Given the description of an element on the screen output the (x, y) to click on. 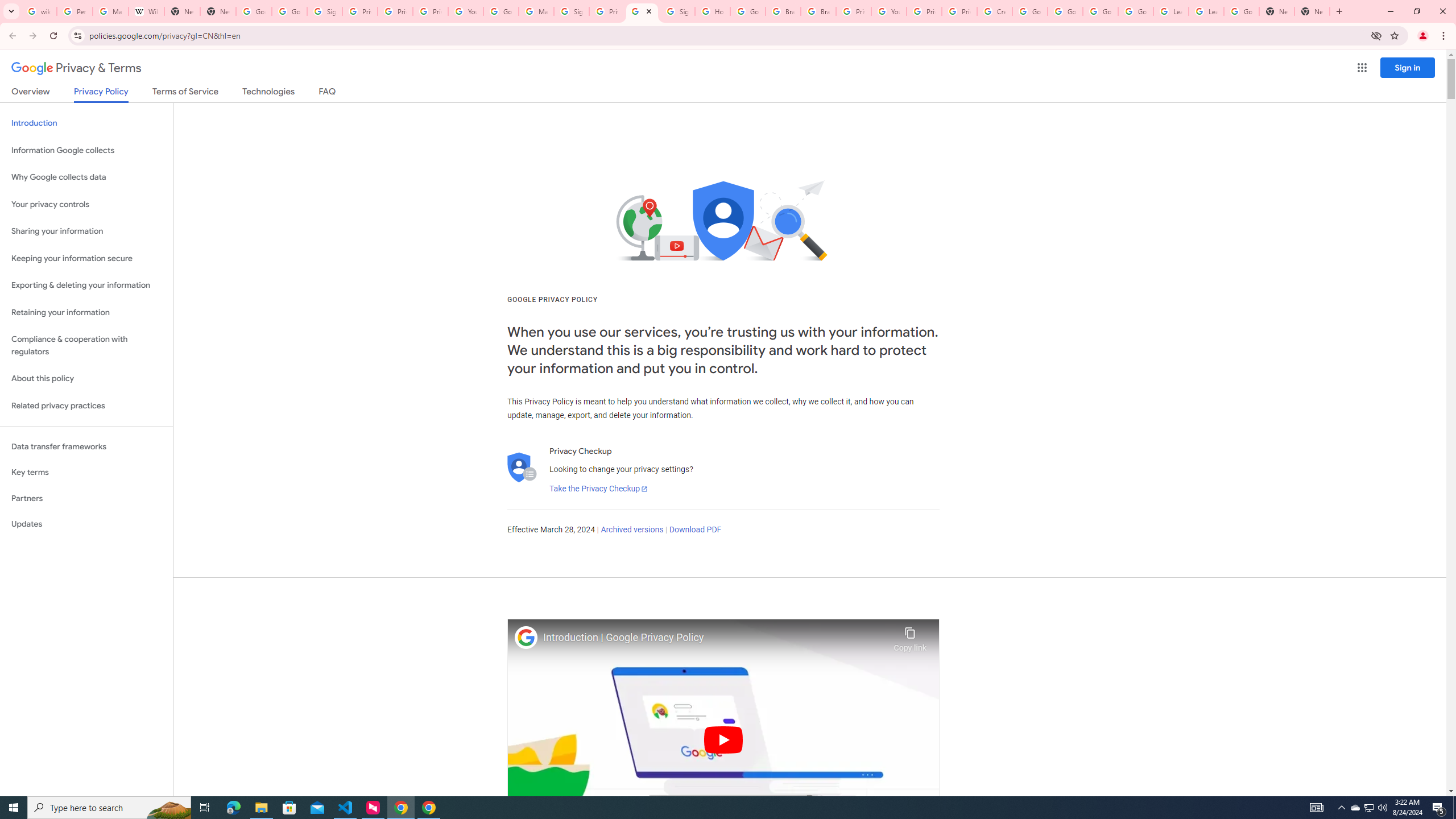
Photo image of Google (526, 636)
Introduction | Google Privacy Policy (715, 637)
Sign in - Google Accounts (324, 11)
Google Account (1240, 11)
Google Drive: Sign-in (288, 11)
